Given the description of an element on the screen output the (x, y) to click on. 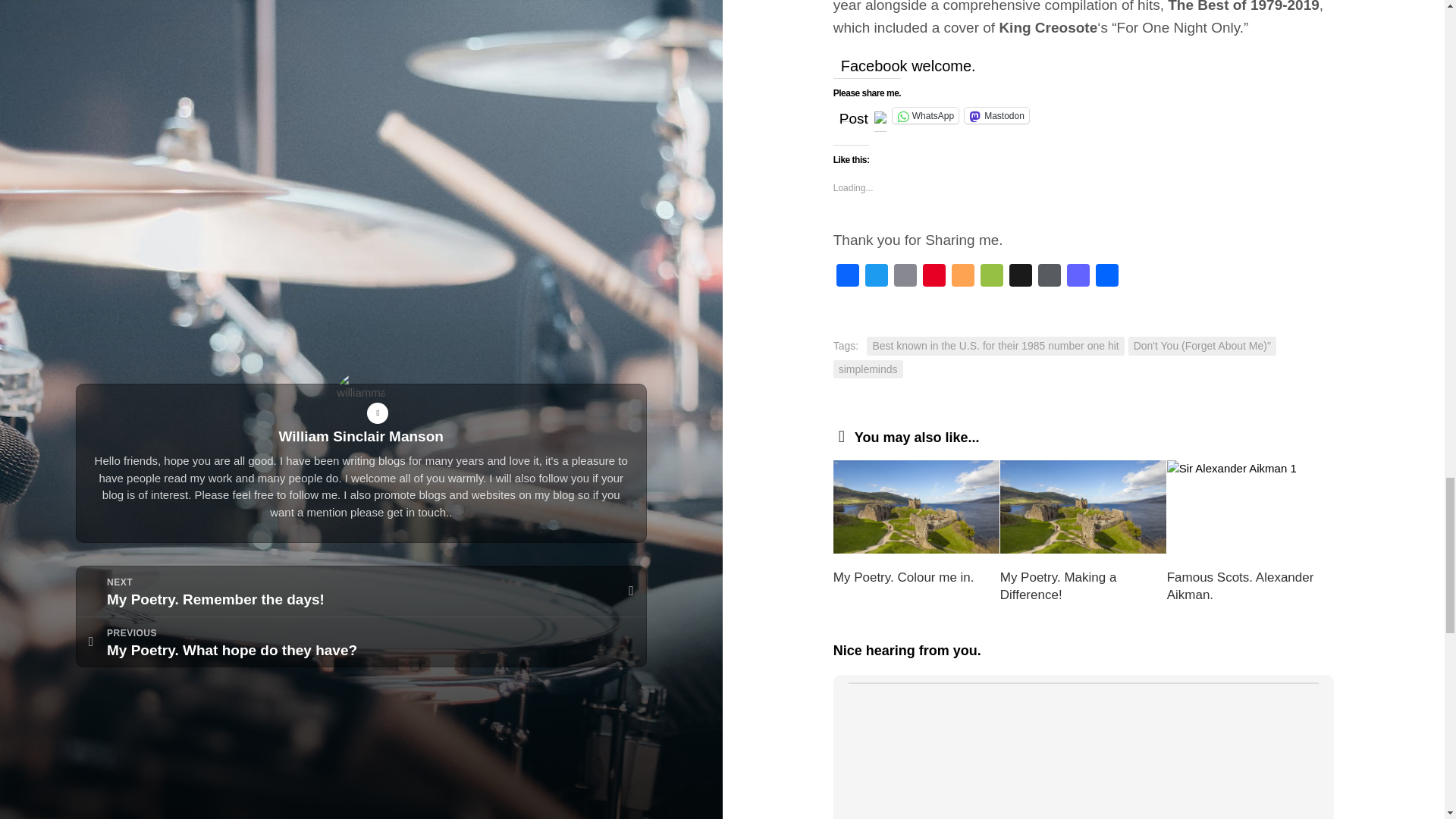
Share (1107, 278)
Mastodon (1078, 278)
Digg (1020, 278)
My Poetry. Making a Difference! (1058, 586)
Blogger (962, 278)
WordPress (1049, 278)
Post (853, 114)
Bookmarks.fr (991, 278)
Mastodon (996, 115)
simpleminds (867, 369)
Facebook (846, 278)
Famous Scots. Alexander Aikman. (1240, 586)
My Poetry. Colour me in. (903, 577)
Mastodon (1078, 278)
Click to share on WhatsApp (925, 115)
